Given the description of an element on the screen output the (x, y) to click on. 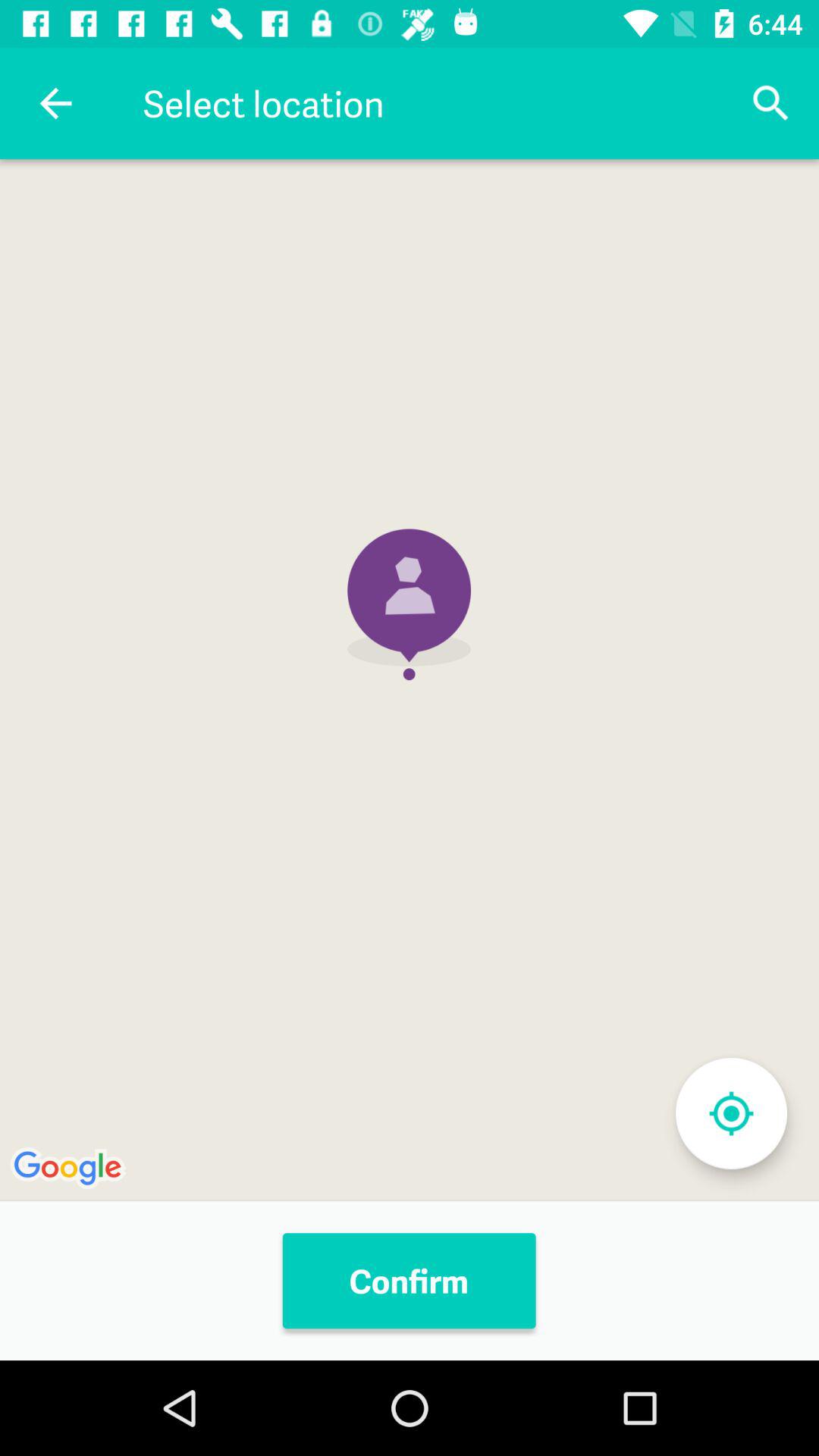
tap the item next to the select location (771, 103)
